Given the description of an element on the screen output the (x, y) to click on. 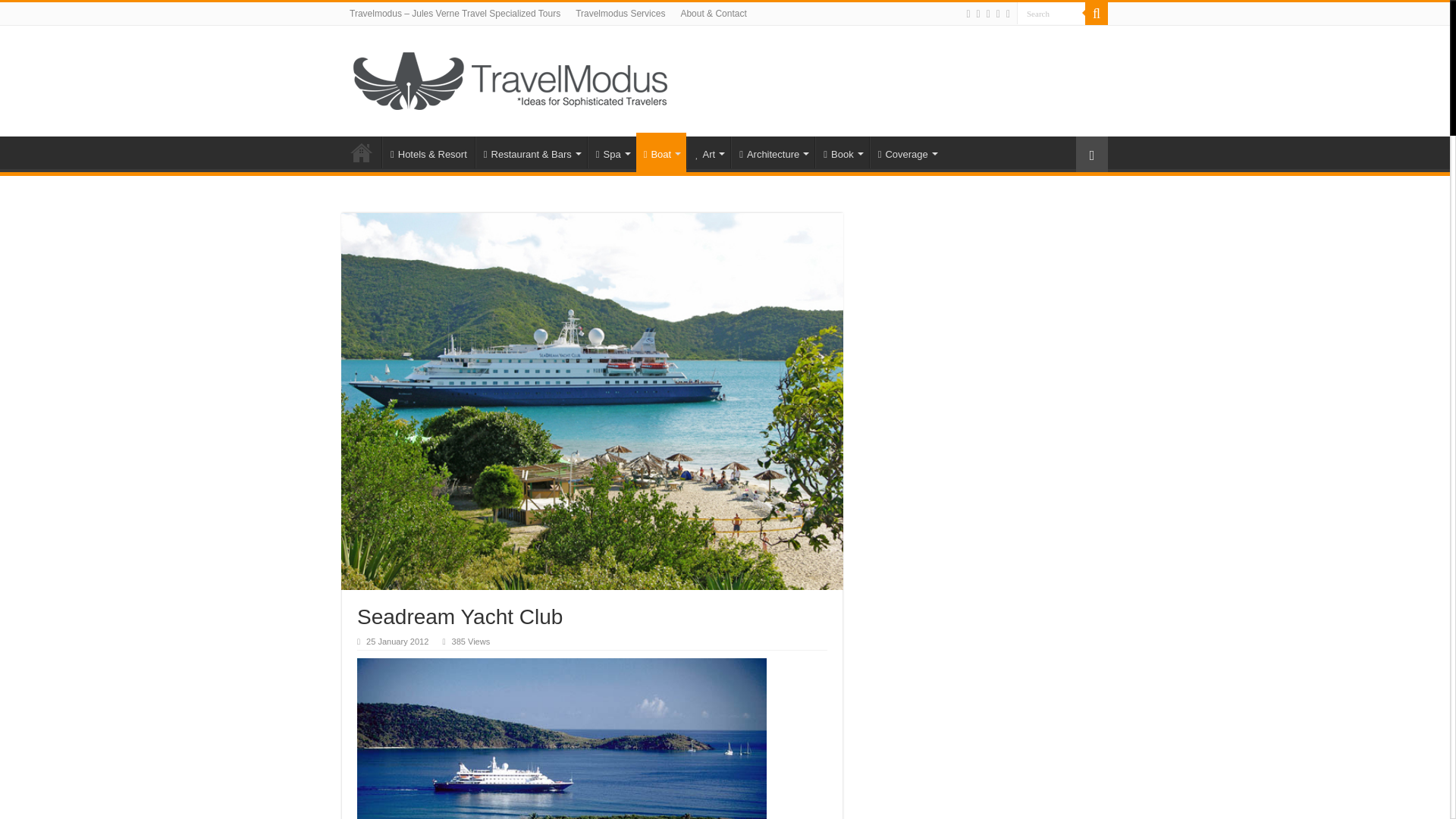
Search (1050, 13)
LinkedIn (997, 13)
Search (1050, 13)
Search (1096, 13)
Home (361, 152)
Facebook (967, 13)
TravelModus (519, 77)
Search (1050, 13)
instagram (1007, 13)
Twitter (978, 13)
Pinterest (988, 13)
Travelmodus Services (619, 13)
